Given the description of an element on the screen output the (x, y) to click on. 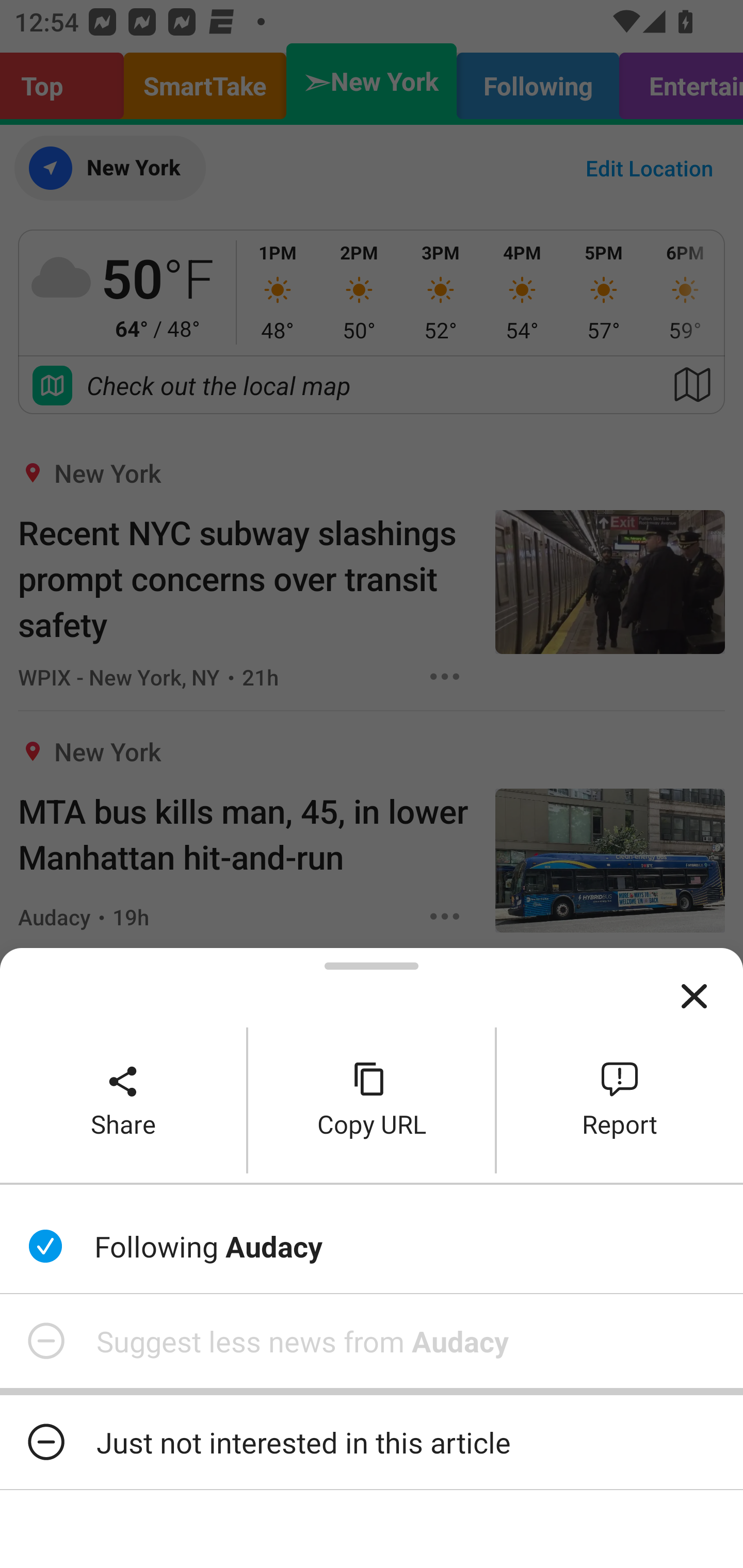
Close (694, 996)
Share (122, 1099)
Copy URL (371, 1099)
Report (620, 1099)
Following Audacy (371, 1246)
Suggest less news from Audacy (371, 1340)
Just not interested in this article (371, 1442)
